Given the description of an element on the screen output the (x, y) to click on. 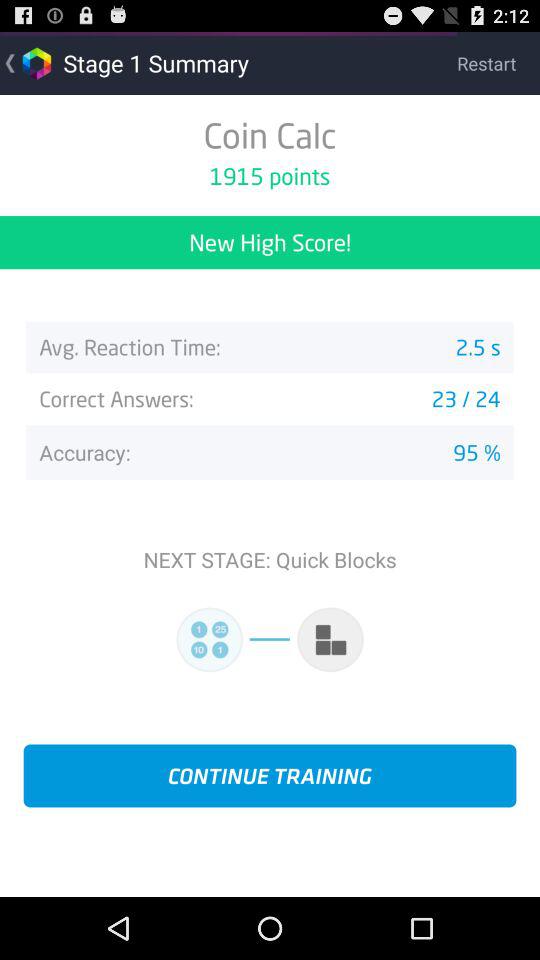
open the button at the bottom (269, 775)
